Given the description of an element on the screen output the (x, y) to click on. 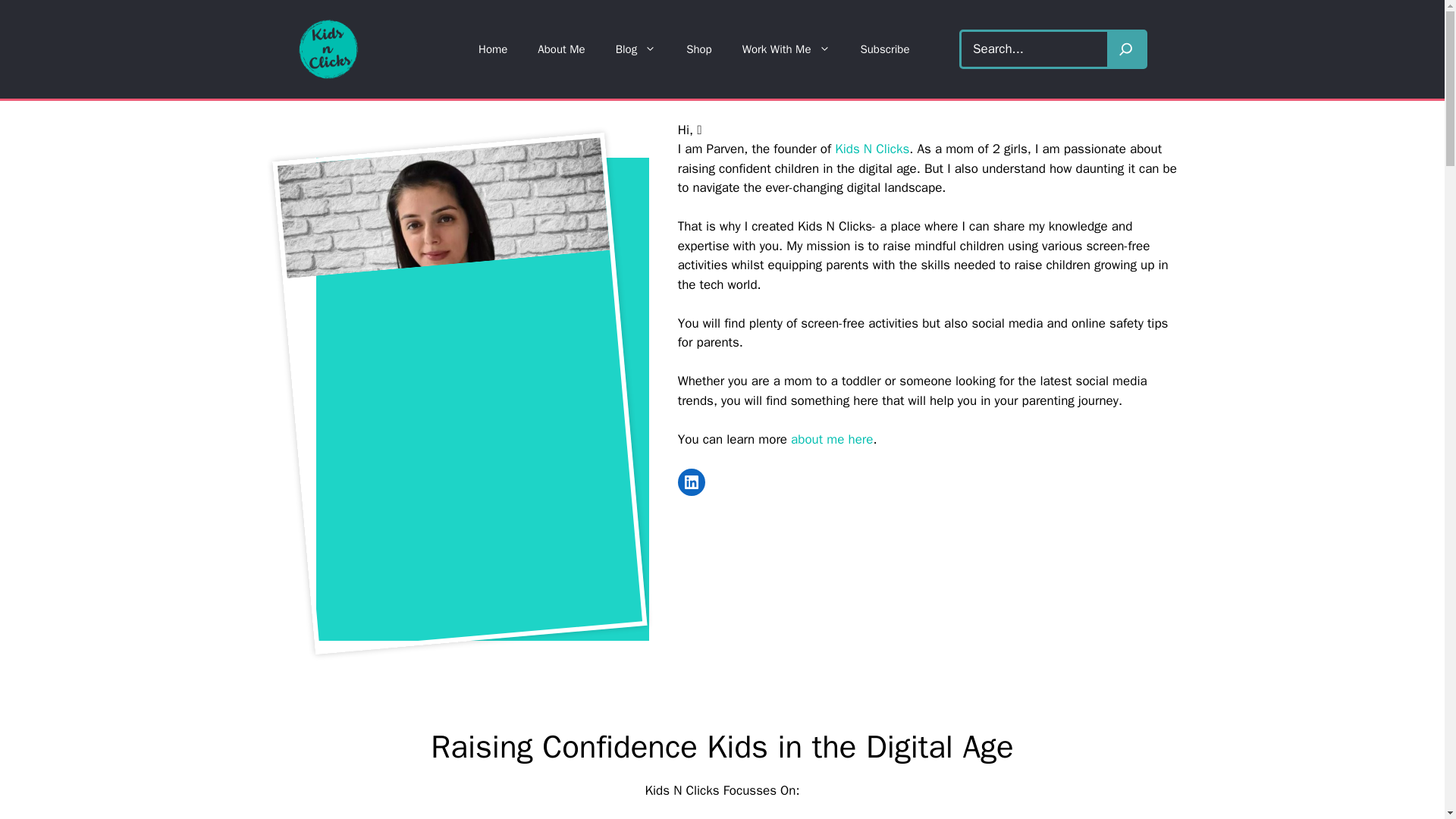
Home (492, 49)
Subscribe (884, 49)
Blog (635, 49)
About Me (560, 49)
Shop (698, 49)
Work With Me (785, 49)
about me here (831, 438)
Kids N Clicks (871, 148)
